Given the description of an element on the screen output the (x, y) to click on. 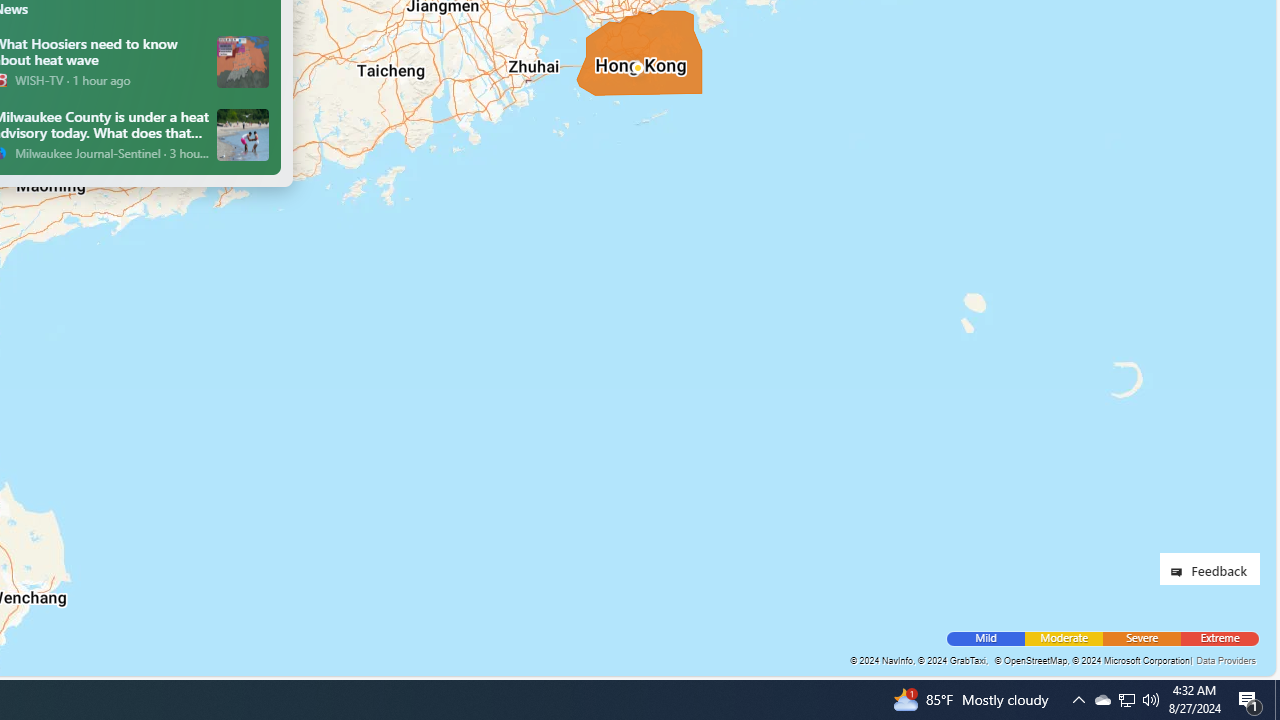
What Hoosiers need to know about heat wave (243, 61)
Data Providers (1225, 660)
Class: feedback_link_icon-DS-EntryPoint1-1 (1179, 571)
